Given the description of an element on the screen output the (x, y) to click on. 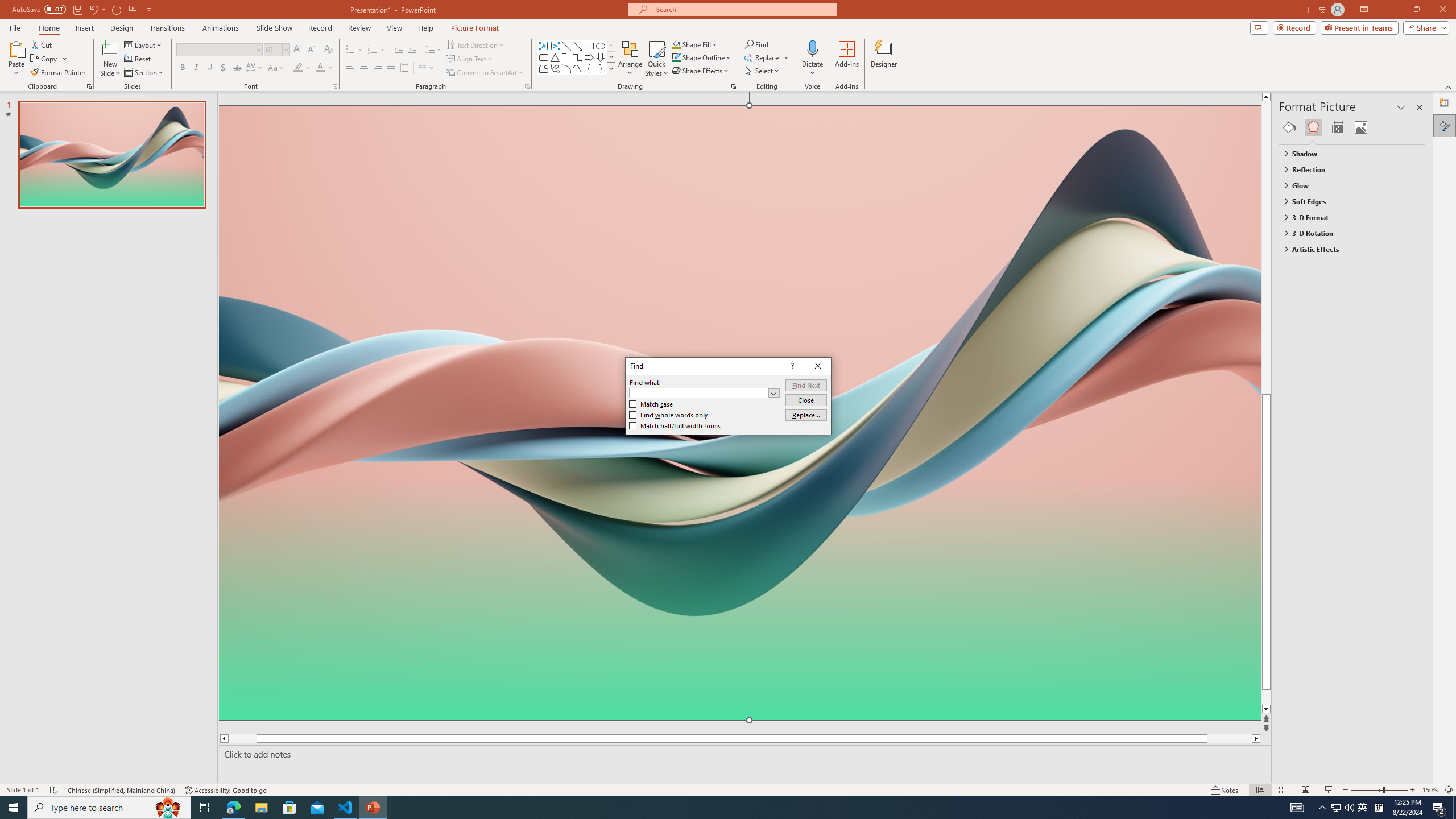
Running applications (707, 807)
Line down (1287, 709)
Distributed (404, 67)
Designer (1444, 102)
Shape Outline (701, 56)
Font Color Red (320, 67)
Decrease Indent (398, 49)
Center (363, 67)
Shapes (611, 68)
Comments (1259, 27)
Microsoft Store (289, 807)
Task Pane Options (1400, 107)
Microsoft Edge - 1 running window (233, 807)
